Given the description of an element on the screen output the (x, y) to click on. 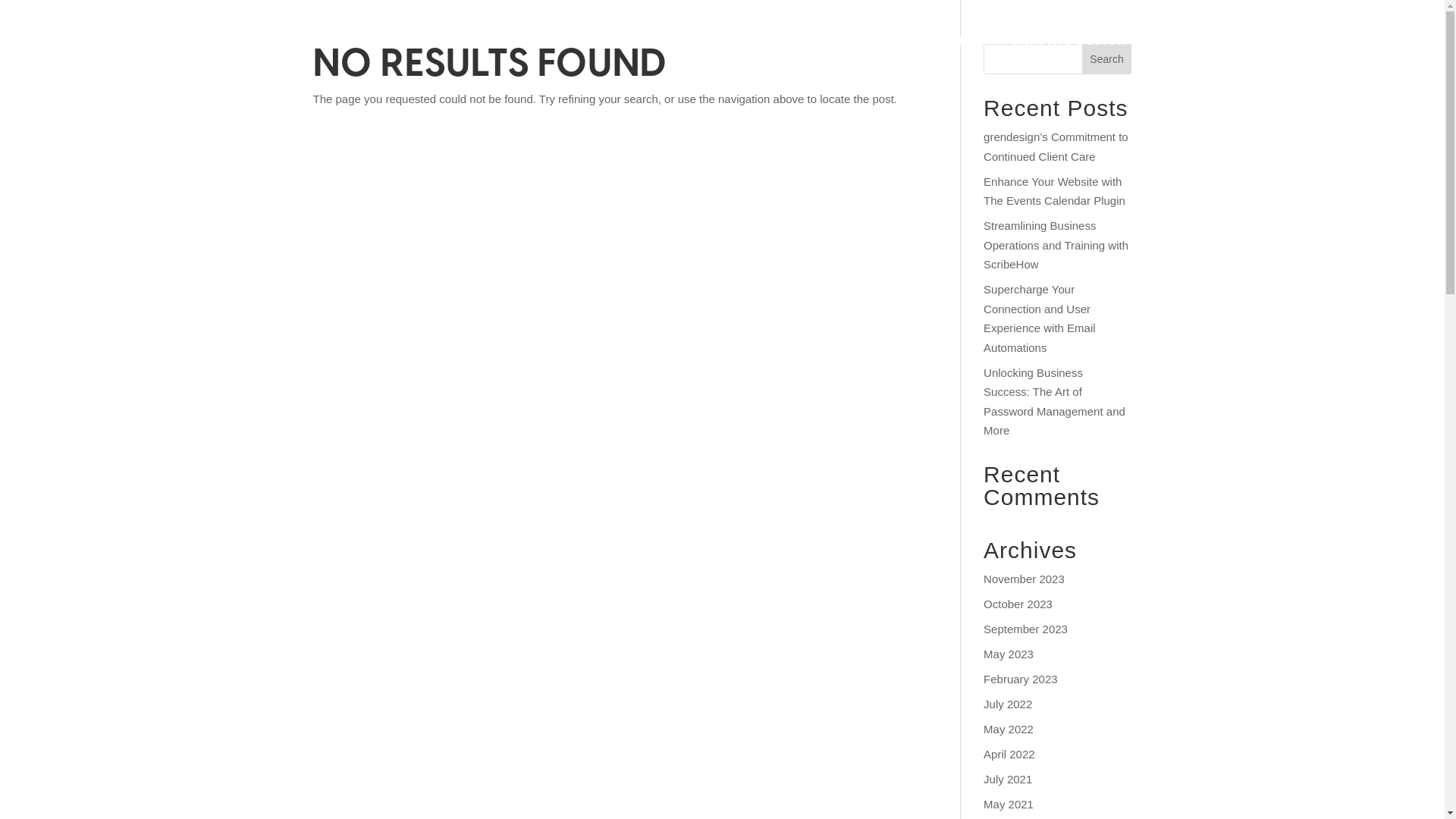
November 2023 Element type: text (1023, 577)
3
WEBSITE DESIGN Element type: text (934, 40)
May 2023 Element type: text (1008, 653)
February 2023 Element type: text (1020, 677)
3
GRAPHIC DESIGN Element type: text (1080, 40)
July 2021 Element type: text (1007, 777)
October 2023 Element type: text (1017, 603)
September 2023 Element type: text (1025, 627)
3
MARKETING Element type: text (1210, 40)
May 2021 Element type: text (1008, 803)
May 2022 Element type: text (1008, 727)
April 2022 Element type: text (1009, 753)
Search Element type: text (1107, 58)
3
ABOUT Element type: text (1305, 40)
Streamlining Business Operations and Training with ScribeHow Element type: text (1055, 244)
CONTACT Element type: text (1380, 39)
Enhance Your Website with The Events Calendar Plugin Element type: text (1054, 190)
July 2022 Element type: text (1007, 703)
